Given the description of an element on the screen output the (x, y) to click on. 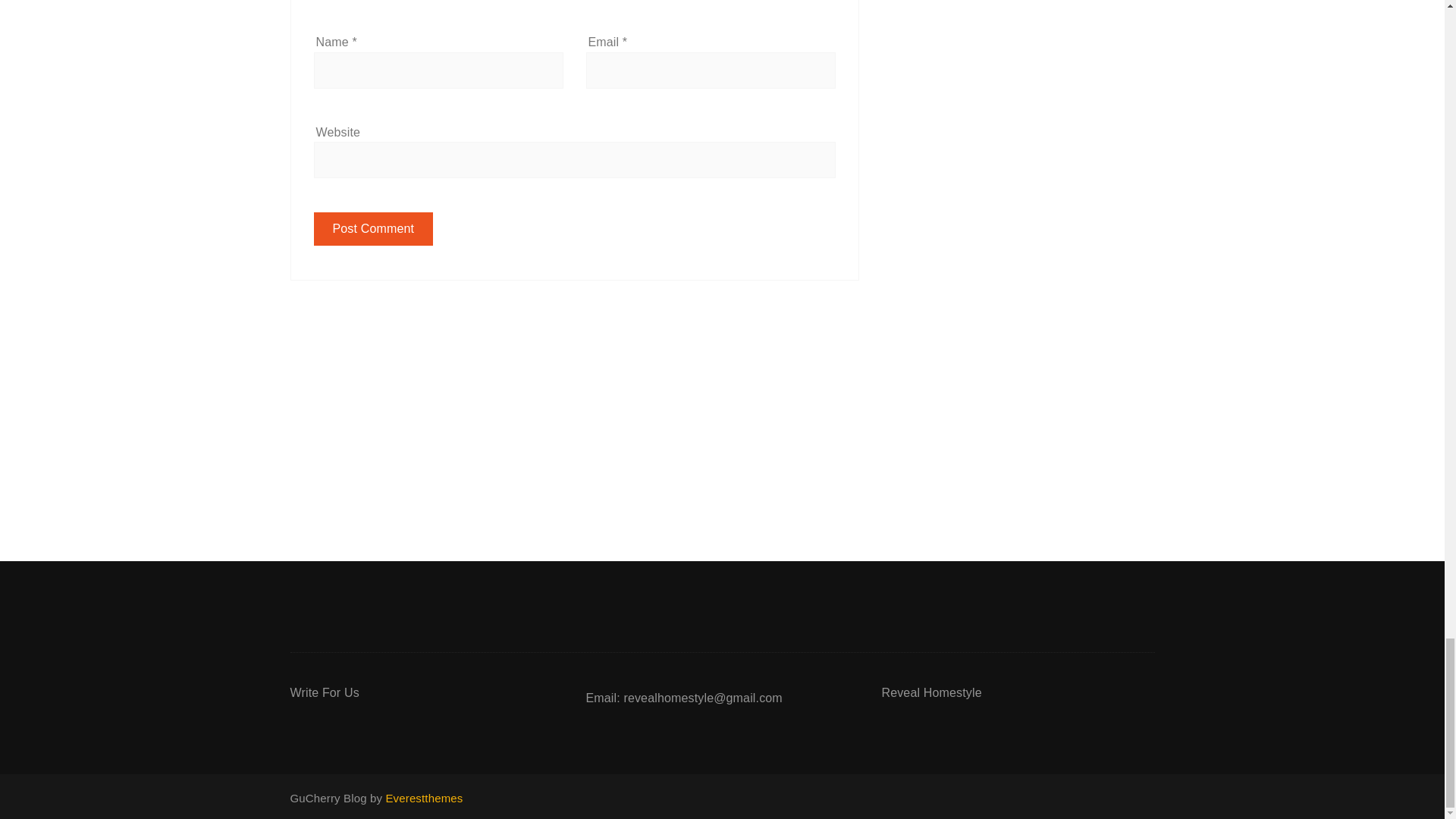
Post Comment (373, 228)
Post Comment (373, 228)
